Given the description of an element on the screen output the (x, y) to click on. 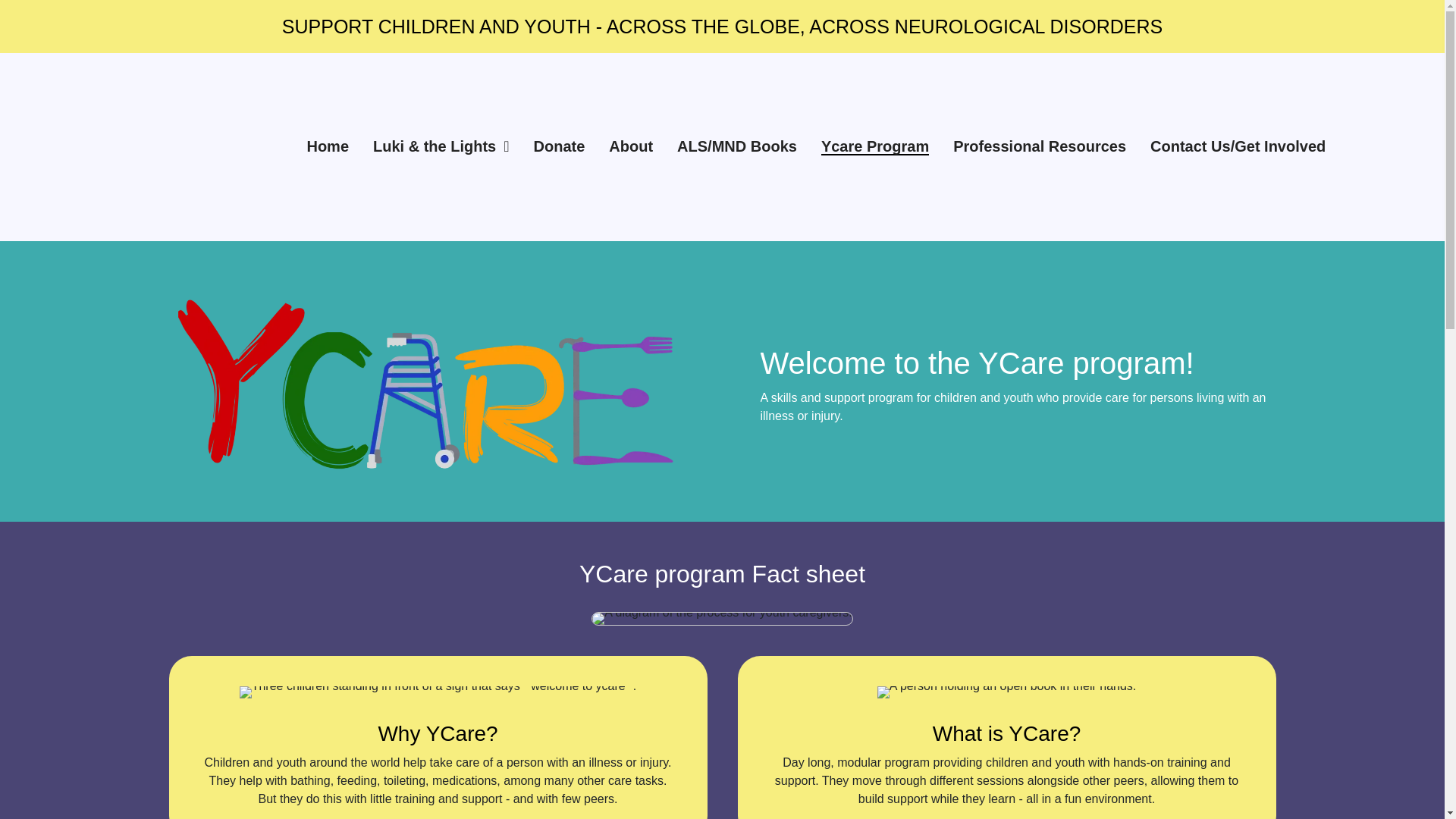
About (630, 146)
Home (327, 146)
Professional Resources (1039, 146)
Ycare Program (874, 146)
Donate (559, 146)
